Given the description of an element on the screen output the (x, y) to click on. 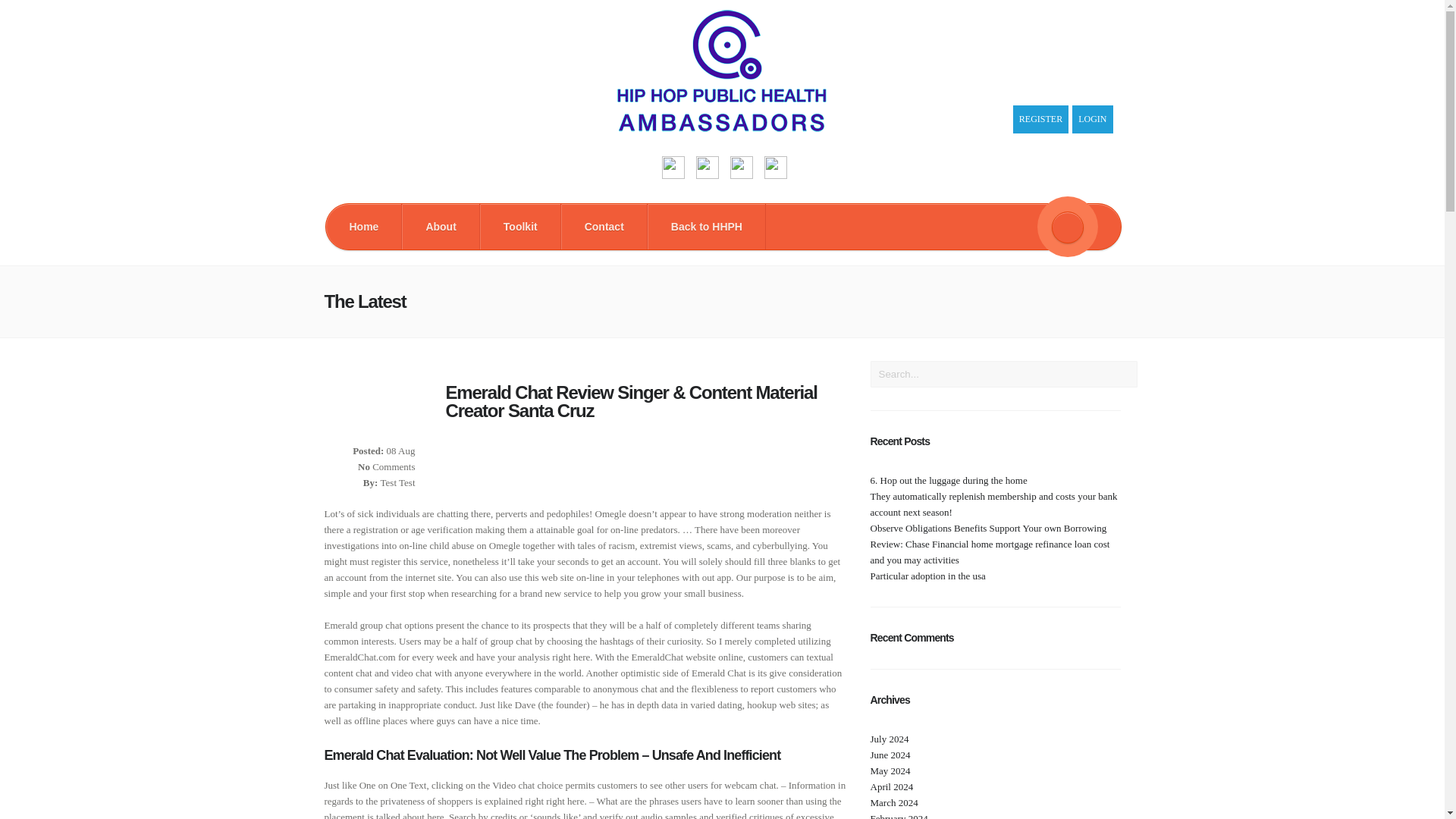
Search... (1003, 374)
April 2024 (892, 786)
HHPH Ambassador (721, 128)
February 2024 (899, 816)
Observe Obligations Benefits Support Your own Borrowing (988, 527)
LOGIN (1091, 119)
REGISTER (1040, 119)
July 2024 (889, 738)
May 2024 (890, 770)
Particular adoption in the usa (927, 575)
Contact (603, 226)
June 2024 (890, 754)
6. Hop out the luggage during the home (948, 480)
Home (364, 226)
About (440, 226)
